Given the description of an element on the screen output the (x, y) to click on. 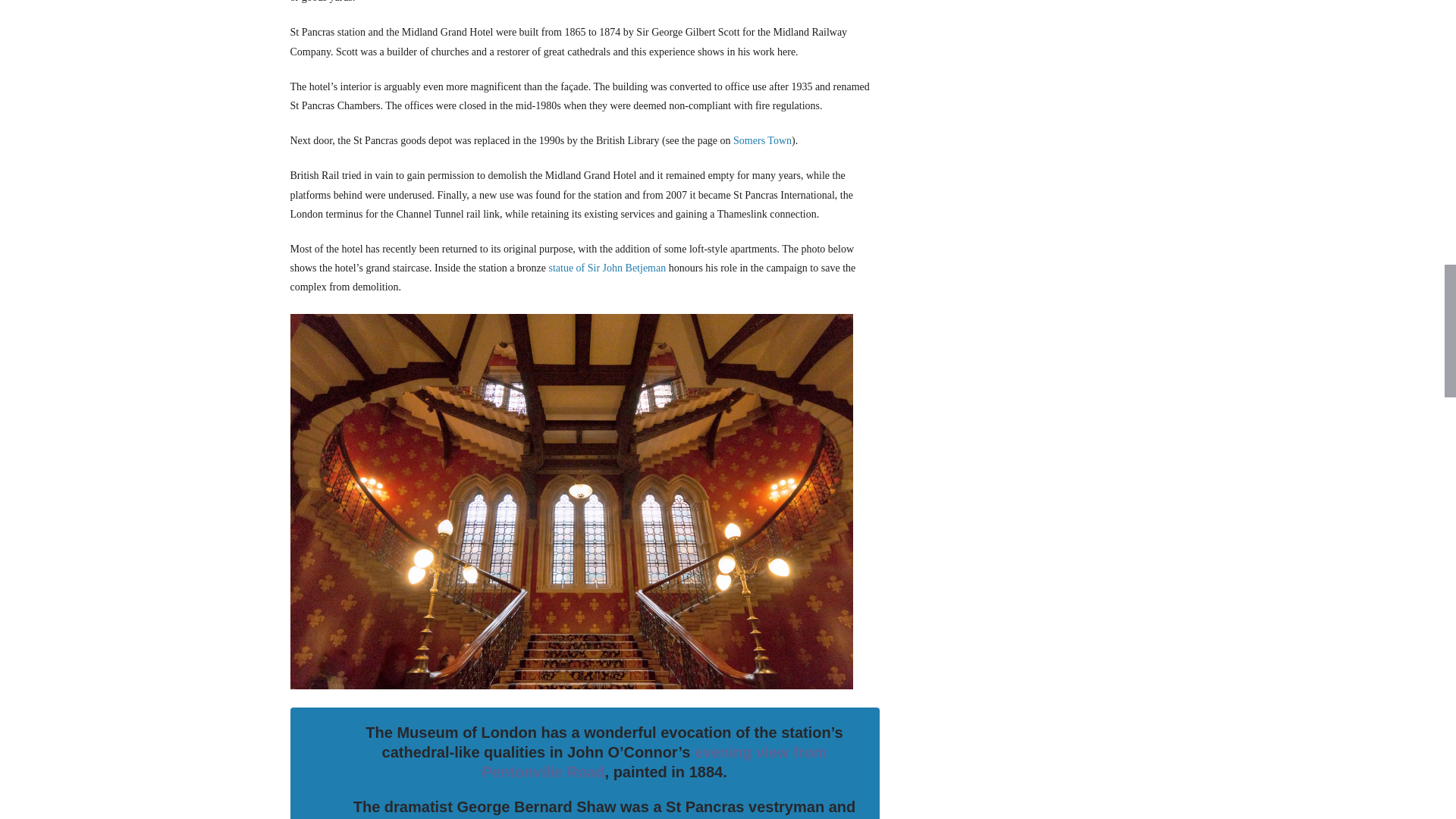
evening view from Pentonville Road (654, 761)
Somers Town (762, 140)
Somers Town (762, 140)
statue of Sir John Betjeman (606, 267)
From Pentonville Road looking west: evening (654, 761)
